Given the description of an element on the screen output the (x, y) to click on. 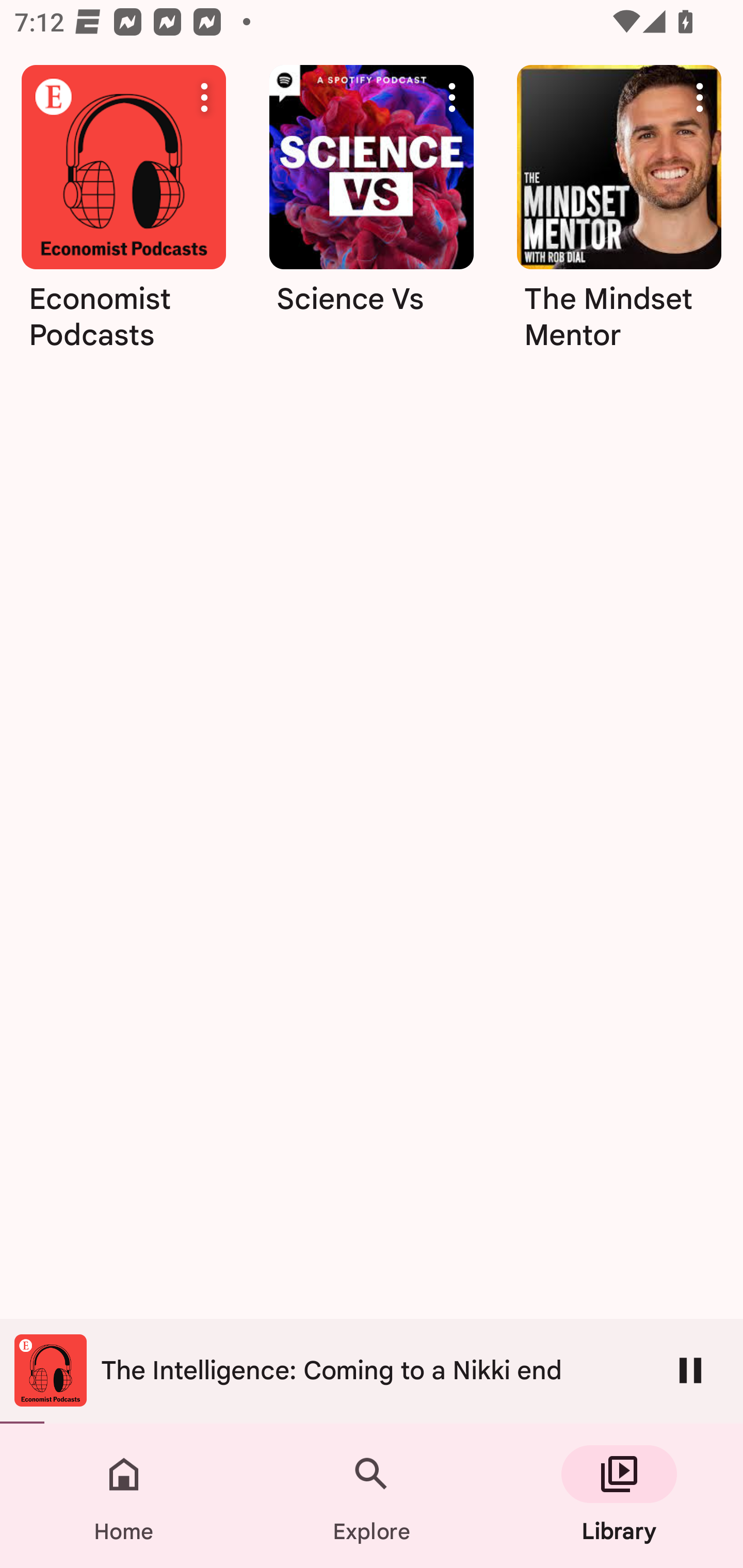
Economist Podcasts More actions Economist Podcasts (123, 214)
Science Vs More actions Science Vs (371, 214)
The Mindset Mentor More actions The Mindset Mentor (619, 214)
More actions (203, 97)
More actions (452, 97)
More actions (699, 97)
Pause (690, 1370)
Home (123, 1495)
Explore (371, 1495)
